Given the description of an element on the screen output the (x, y) to click on. 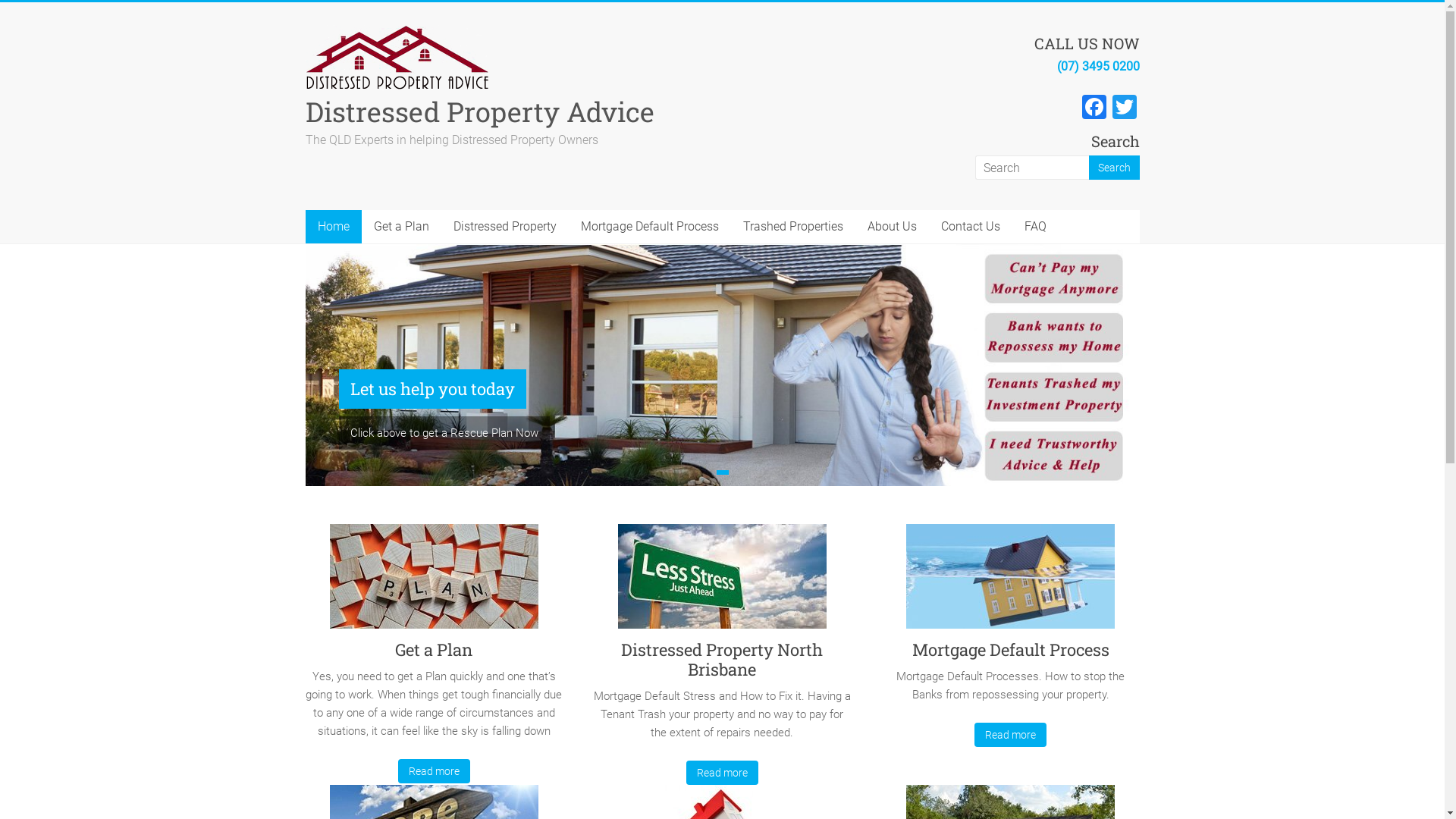
(07) 3495 0200 Element type: text (1098, 66)
Distressed Property North Brisbane Element type: hover (721, 582)
Mortgage Default Process Element type: text (649, 226)
Get a Plan Element type: hover (433, 582)
Search Element type: text (1113, 167)
Read more Element type: text (721, 772)
Trashed Properties Element type: text (793, 226)
Read more Element type: text (433, 771)
Distressed Property Element type: text (504, 226)
Distressed Property Advice Element type: text (478, 111)
Mortgage Default Process Element type: hover (1010, 582)
About Us Element type: text (891, 226)
Mortgage Default Process Element type: text (1009, 649)
Facebook Element type: text (1093, 108)
Get a Plan Element type: text (400, 226)
Home Element type: text (332, 226)
Twitter Element type: text (1123, 108)
FAQ Element type: text (1034, 226)
Get a Plan Element type: text (433, 649)
Let us help you today Element type: text (431, 388)
Distressed Property North Brisbane Element type: text (721, 659)
Contact Us Element type: text (969, 226)
Read more Element type: text (1010, 734)
